Given the description of an element on the screen output the (x, y) to click on. 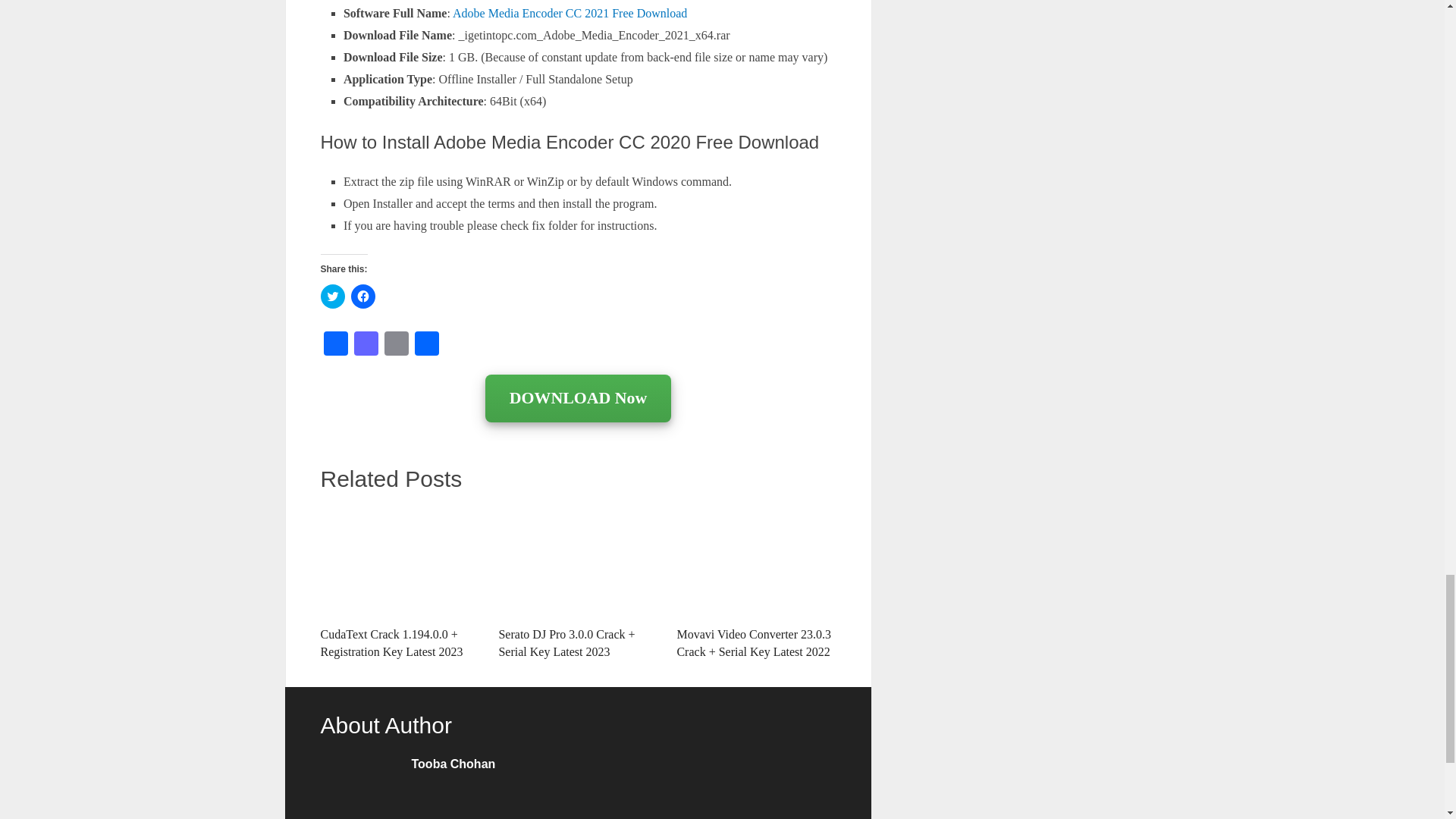
Email (395, 345)
Email (395, 345)
DOWNLOAD Now (577, 398)
Mastodon (365, 345)
Share (425, 345)
DOWNLOAD Now (577, 399)
Mastodon (365, 345)
Click to share on Twitter (331, 296)
Adobe Media Encoder CC 2021 Free Download (569, 12)
Click to share on Facebook (362, 296)
